Given the description of an element on the screen output the (x, y) to click on. 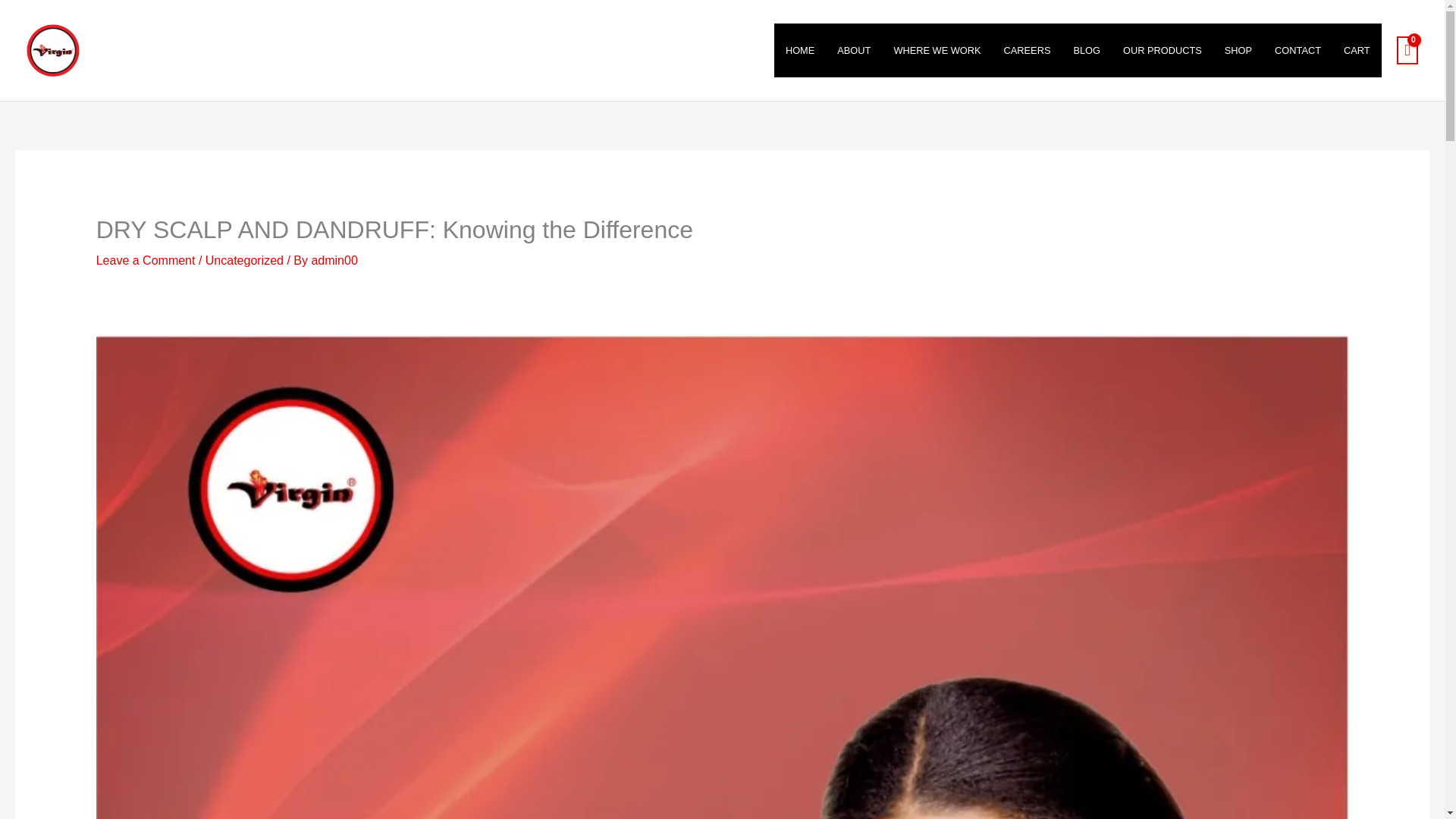
SHOP (1237, 50)
WHERE WE WORK (936, 50)
Leave a Comment (145, 259)
CAREERS (1027, 50)
CART (1356, 50)
HOME (799, 50)
CONTACT (1297, 50)
ABOUT (853, 50)
OUR PRODUCTS (1162, 50)
View all posts by admin00 (333, 259)
BLOG (1086, 50)
admin00 (333, 259)
Uncategorized (244, 259)
